Given the description of an element on the screen output the (x, y) to click on. 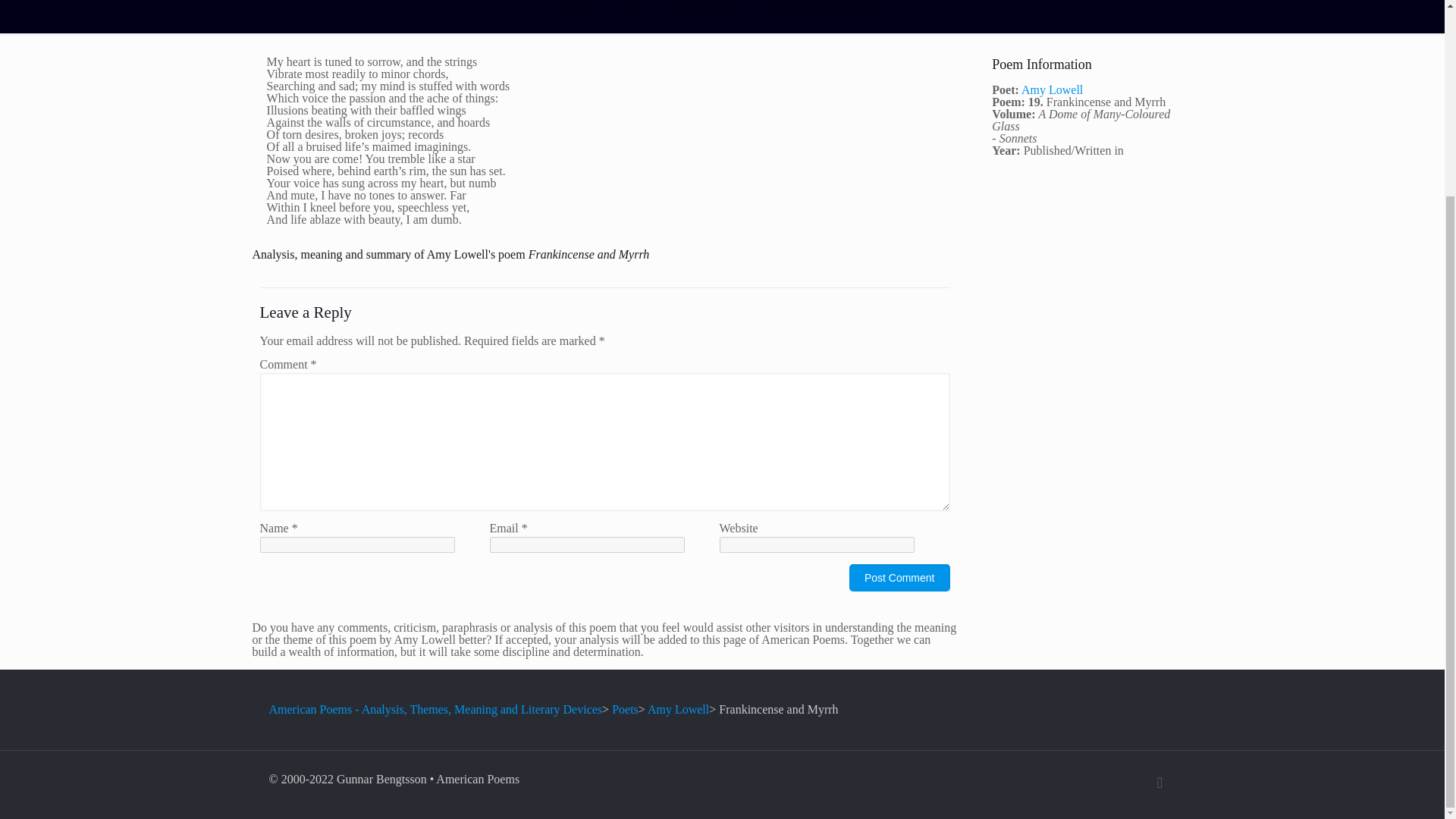
Home (572, 5)
Go to Poets. (625, 708)
Poets (625, 708)
Amy Lowell (1052, 89)
Post Comment (899, 577)
Poets (631, 5)
Amy Lowell (678, 708)
Go to Amy Lowell. (678, 708)
Frankincense and Myrrh (826, 5)
Post Comment (899, 577)
Amy Lowell (705, 5)
